Given the description of an element on the screen output the (x, y) to click on. 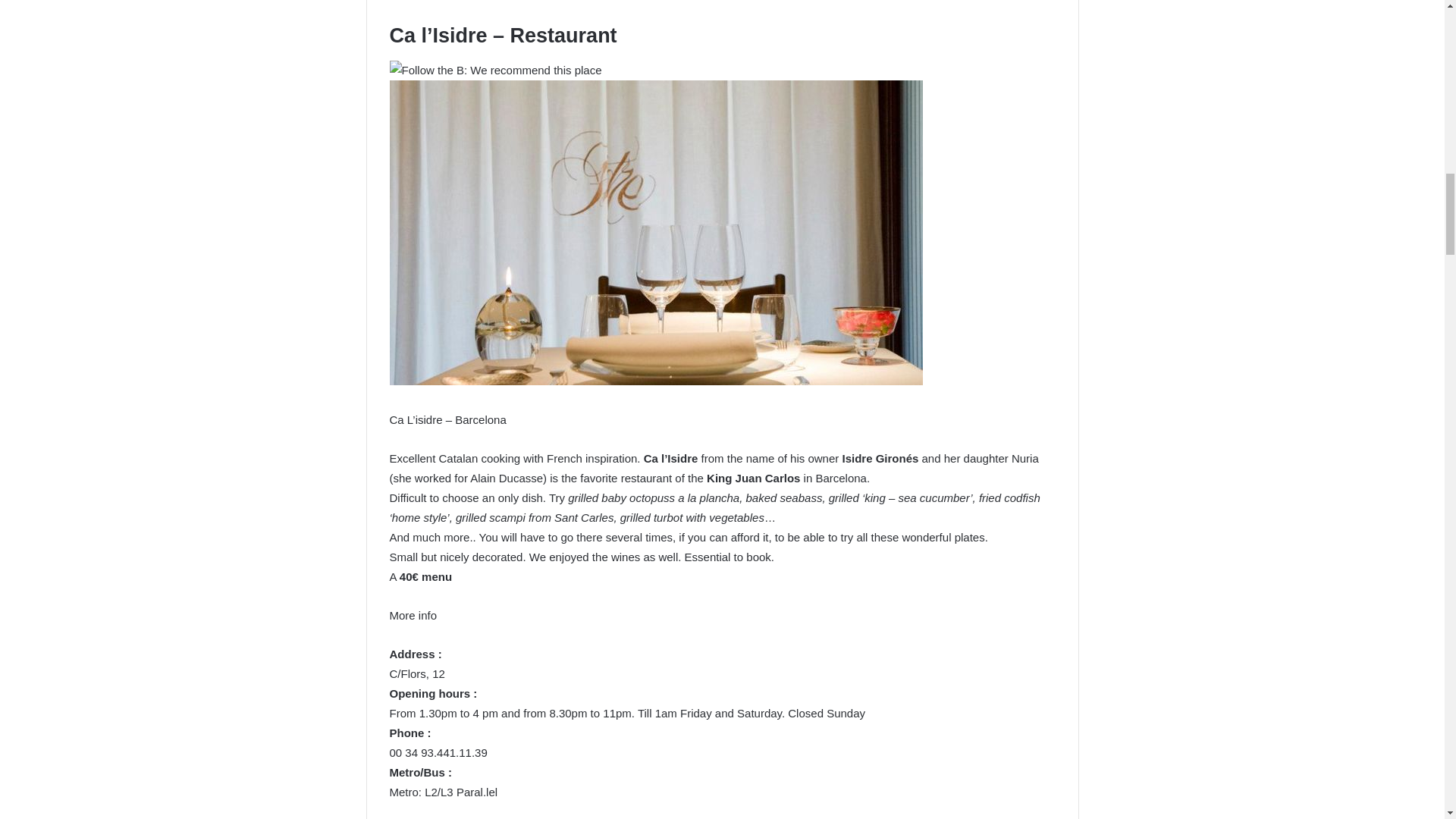
Follow the B: We recommend this place (496, 70)
